Given the description of an element on the screen output the (x, y) to click on. 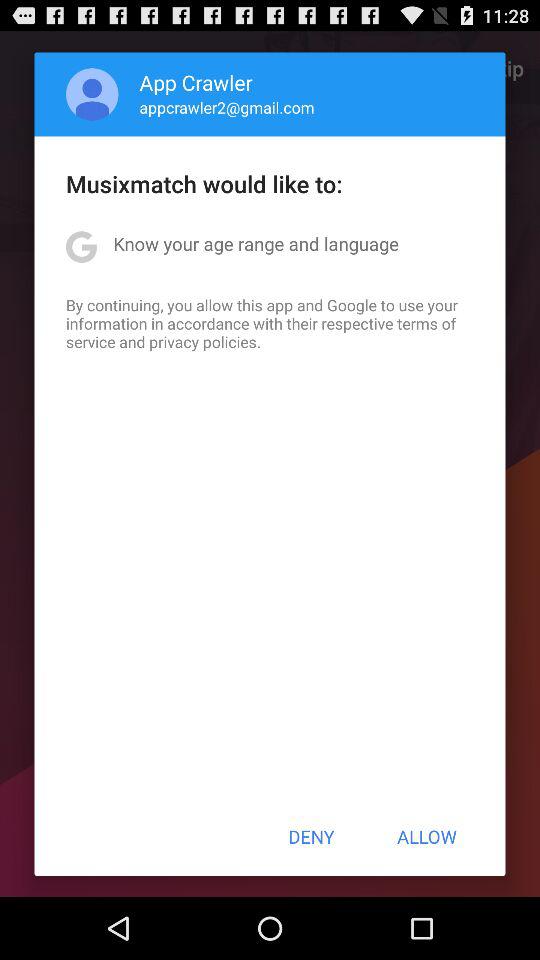
open item above musixmatch would like (226, 107)
